Given the description of an element on the screen output the (x, y) to click on. 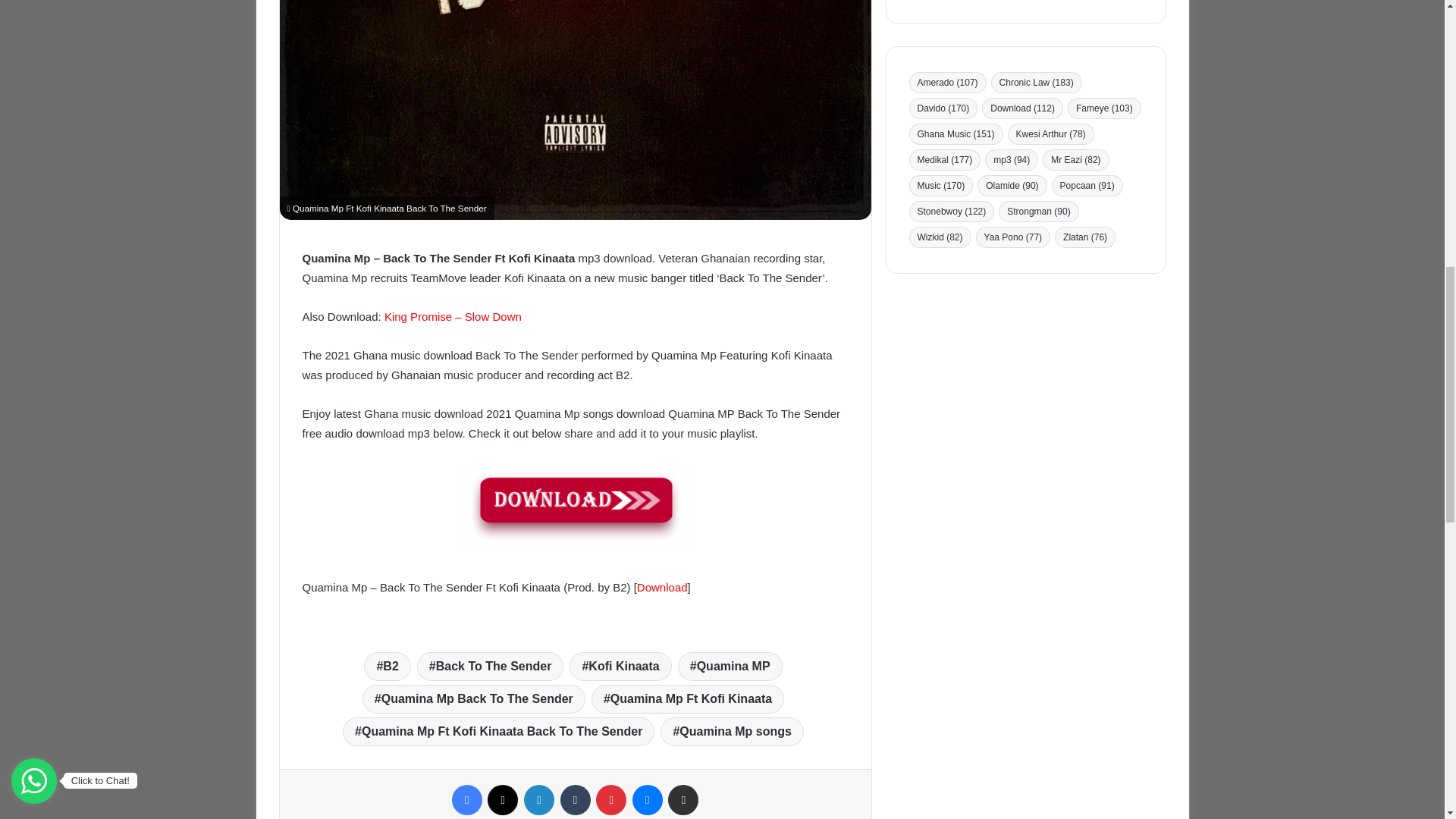
Facebook (466, 799)
X (502, 799)
LinkedIn (539, 799)
Messenger (646, 799)
Pinterest (610, 799)
Tumblr (574, 799)
